Given the description of an element on the screen output the (x, y) to click on. 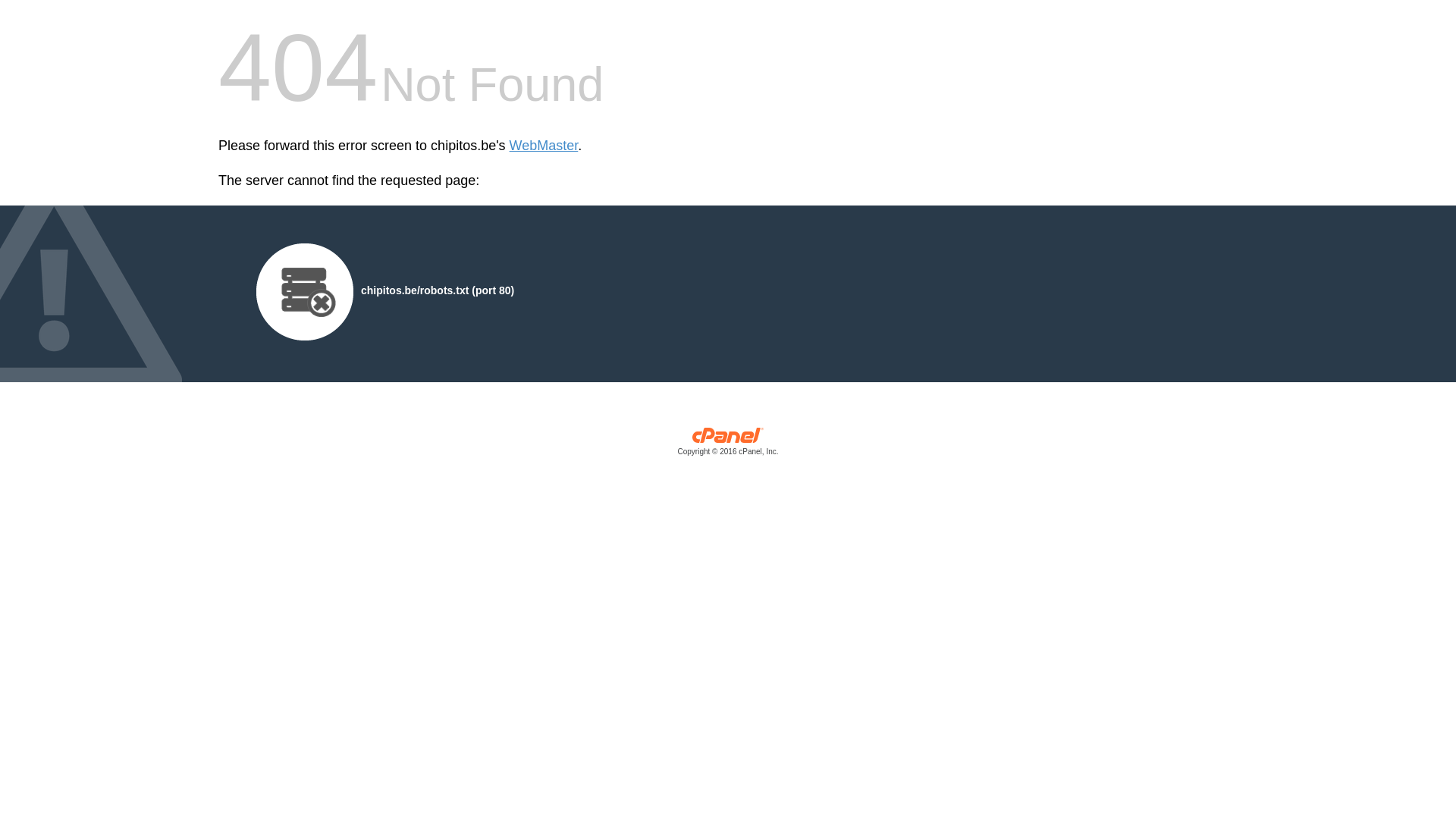
WebMaster Element type: text (543, 145)
